Given the description of an element on the screen output the (x, y) to click on. 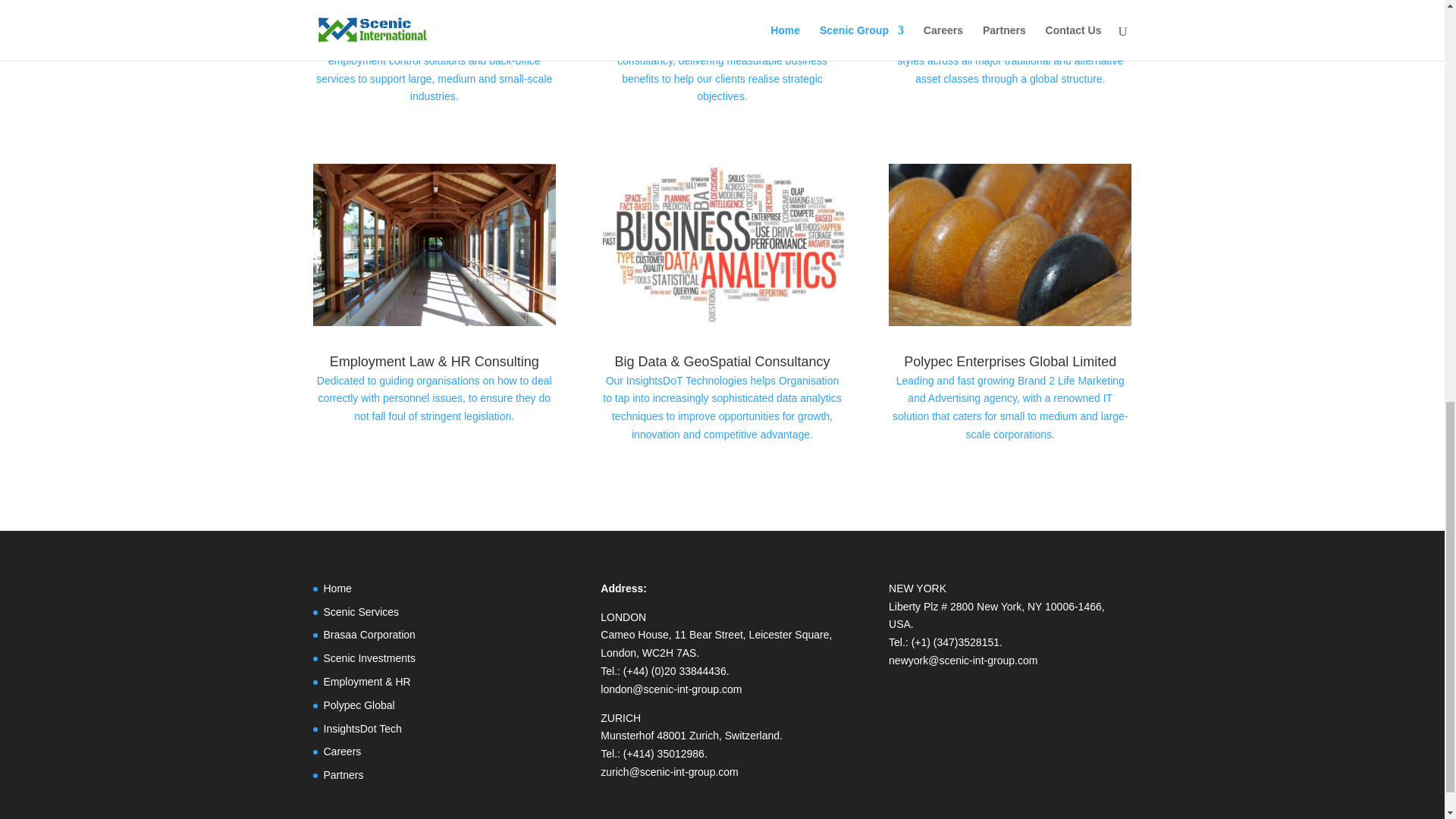
Scenic Umbrella Solutions (434, 23)
Brasaa Corporation UK Ltd (721, 23)
Scenic Investments Europe (1010, 23)
